Given the description of an element on the screen output the (x, y) to click on. 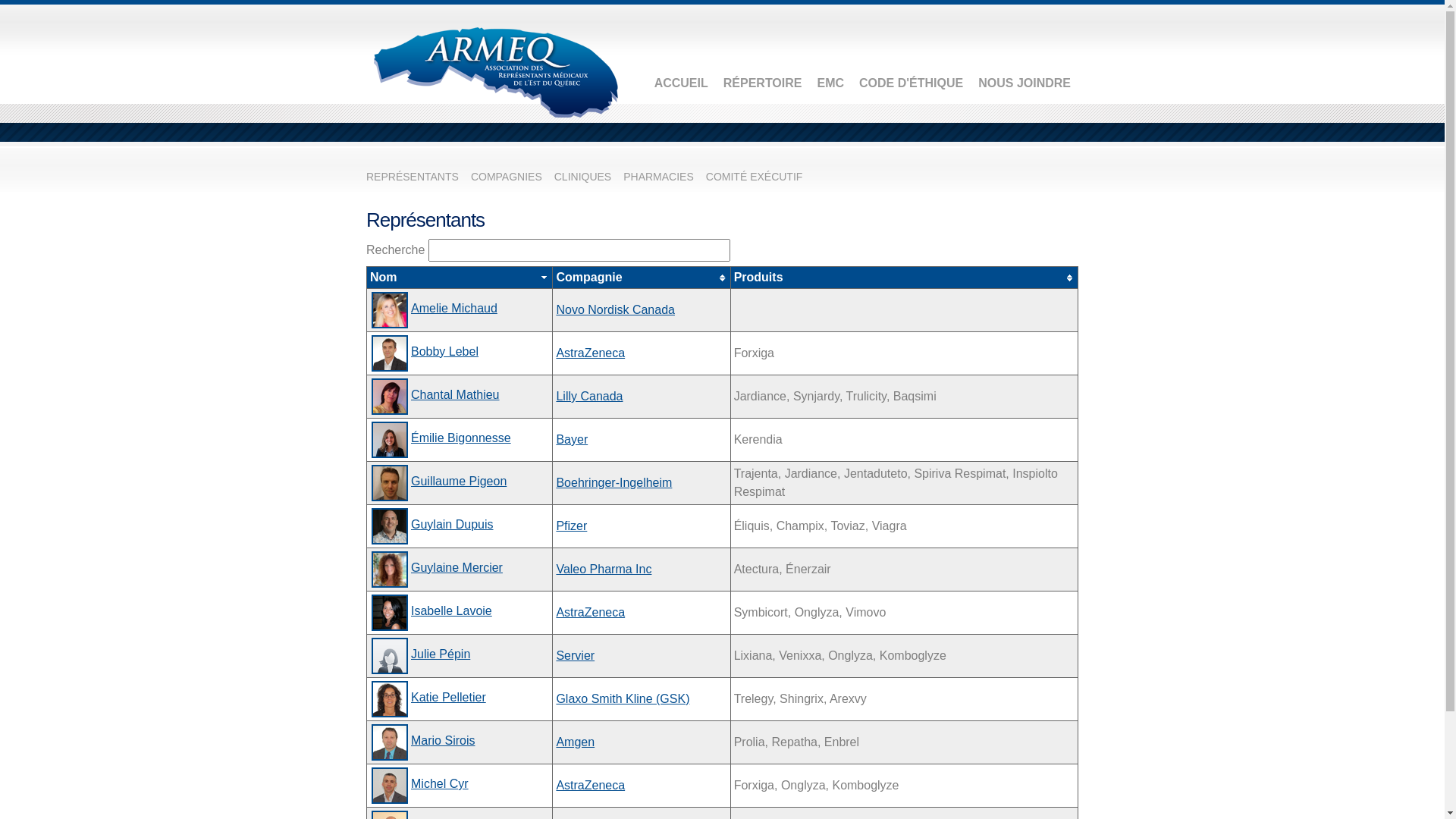
ACCUEIL Element type: text (681, 82)
Valeo Pharma Inc Element type: text (603, 568)
Amgen Element type: text (574, 741)
Guillaume Pigeon Element type: text (458, 480)
Isabelle Lavoie Element type: text (451, 610)
Novo Nordisk Canada Element type: text (614, 309)
Servier Element type: text (574, 655)
Glaxo Smith Kline (GSK) Element type: text (622, 698)
Lilly Canada Element type: text (588, 395)
Bayer Element type: text (571, 439)
COMPAGNIES Element type: text (506, 176)
Guylaine Mercier Element type: text (456, 567)
Michel Cyr Element type: text (439, 783)
Mario Sirois Element type: text (442, 740)
Chantal Mathieu Element type: text (455, 394)
Katie Pelletier Element type: text (448, 696)
CLINIQUES Element type: text (582, 176)
AstraZeneca Element type: text (589, 611)
Amelie Michaud Element type: text (454, 307)
Bobby Lebel Element type: text (444, 351)
NOUS JOINDRE Element type: text (1024, 82)
Guylain Dupuis Element type: text (452, 523)
AstraZeneca Element type: text (589, 352)
PHARMACIES Element type: text (658, 176)
AstraZeneca Element type: text (589, 784)
Boehringer-Ingelheim Element type: text (613, 482)
EMC Element type: text (830, 82)
Pfizer Element type: text (570, 525)
